Given the description of an element on the screen output the (x, y) to click on. 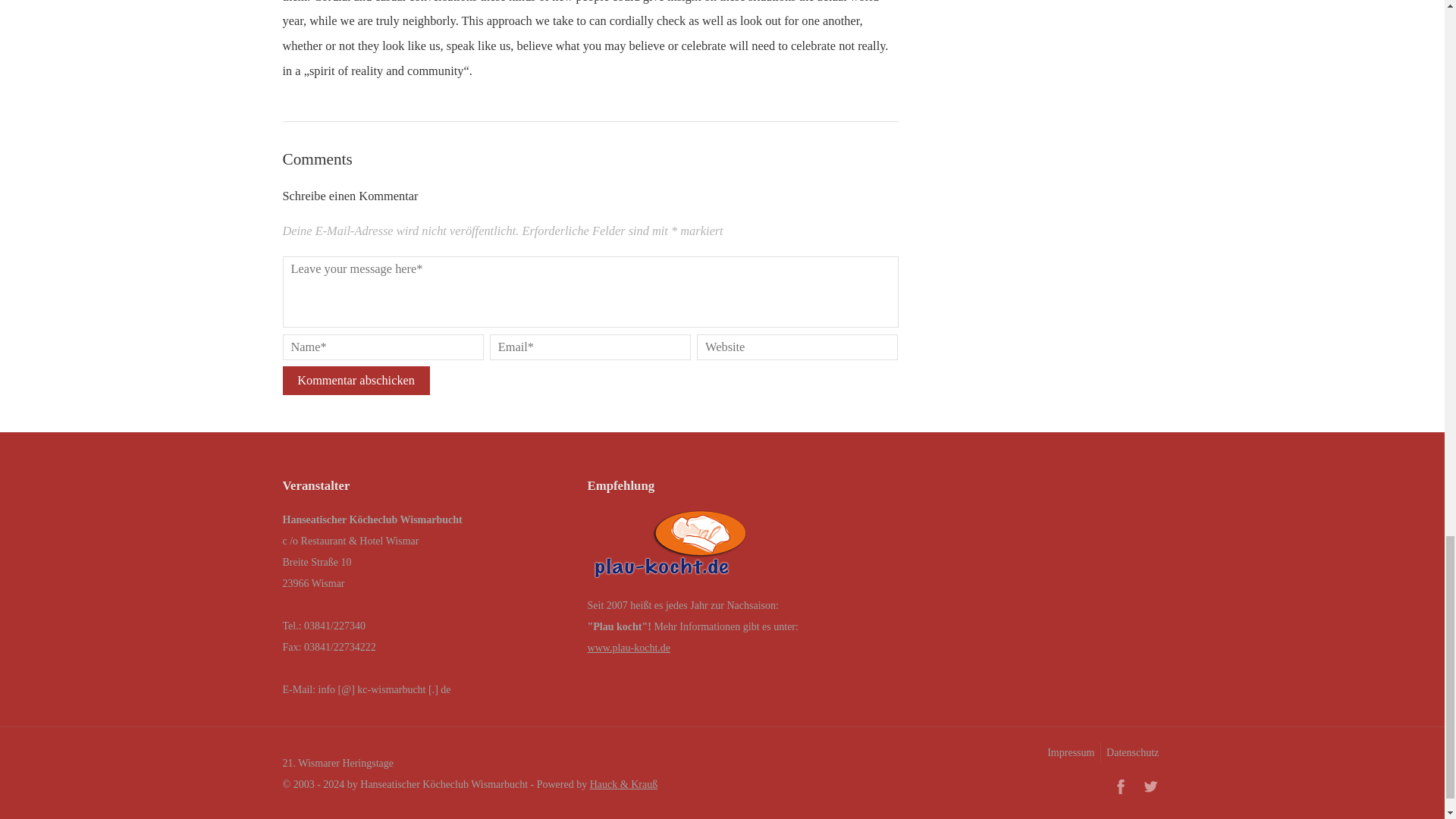
www.plau-kocht.de (629, 647)
Datenschutz (1130, 752)
Kommentar abschicken (355, 380)
plau-kocht-logo (671, 548)
Facebook (1120, 785)
Kommentar abschicken (355, 380)
Twitter (1149, 785)
Impressum (1069, 752)
